Given the description of an element on the screen output the (x, y) to click on. 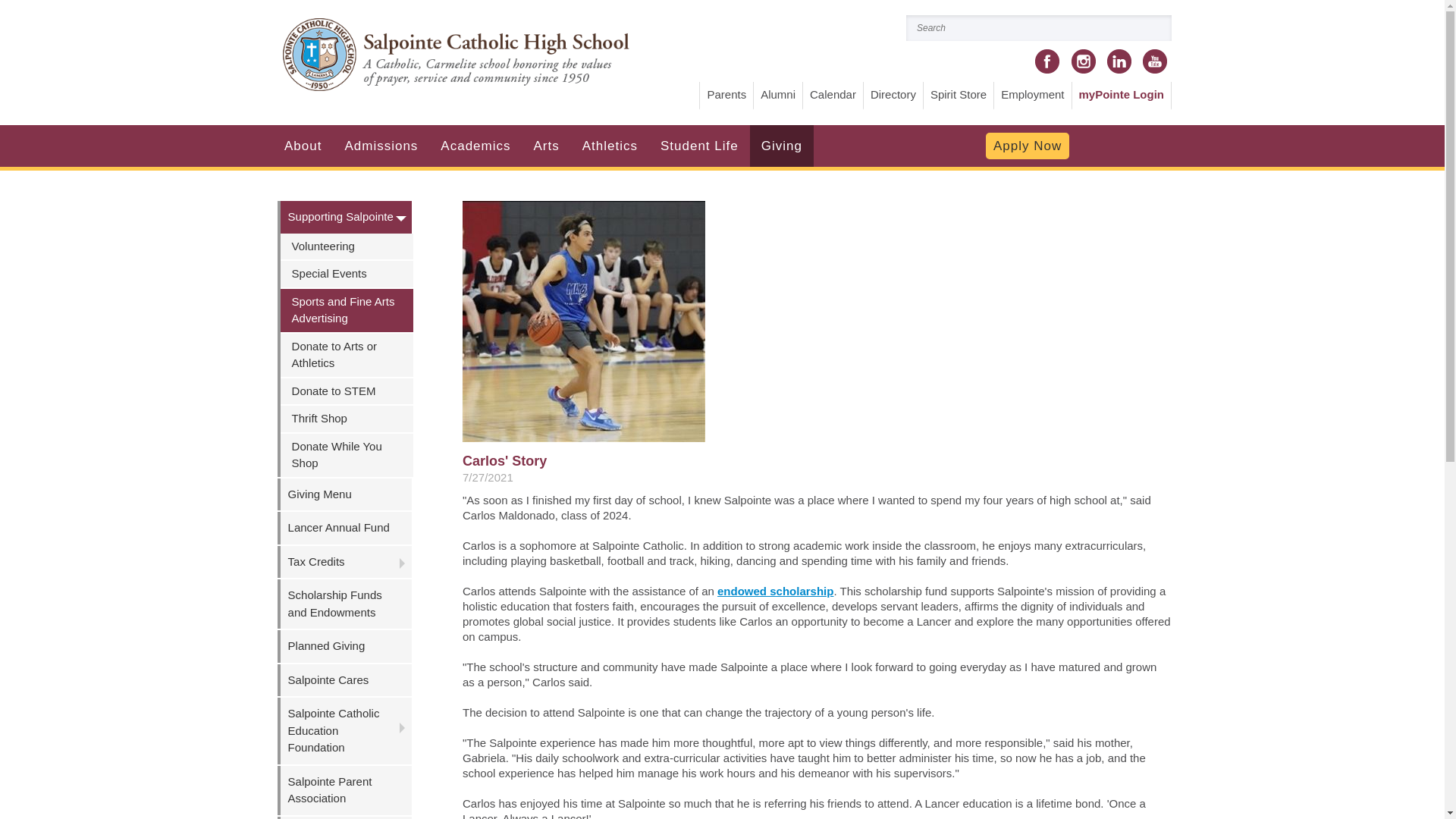
Go (1159, 27)
